Given the description of an element on the screen output the (x, y) to click on. 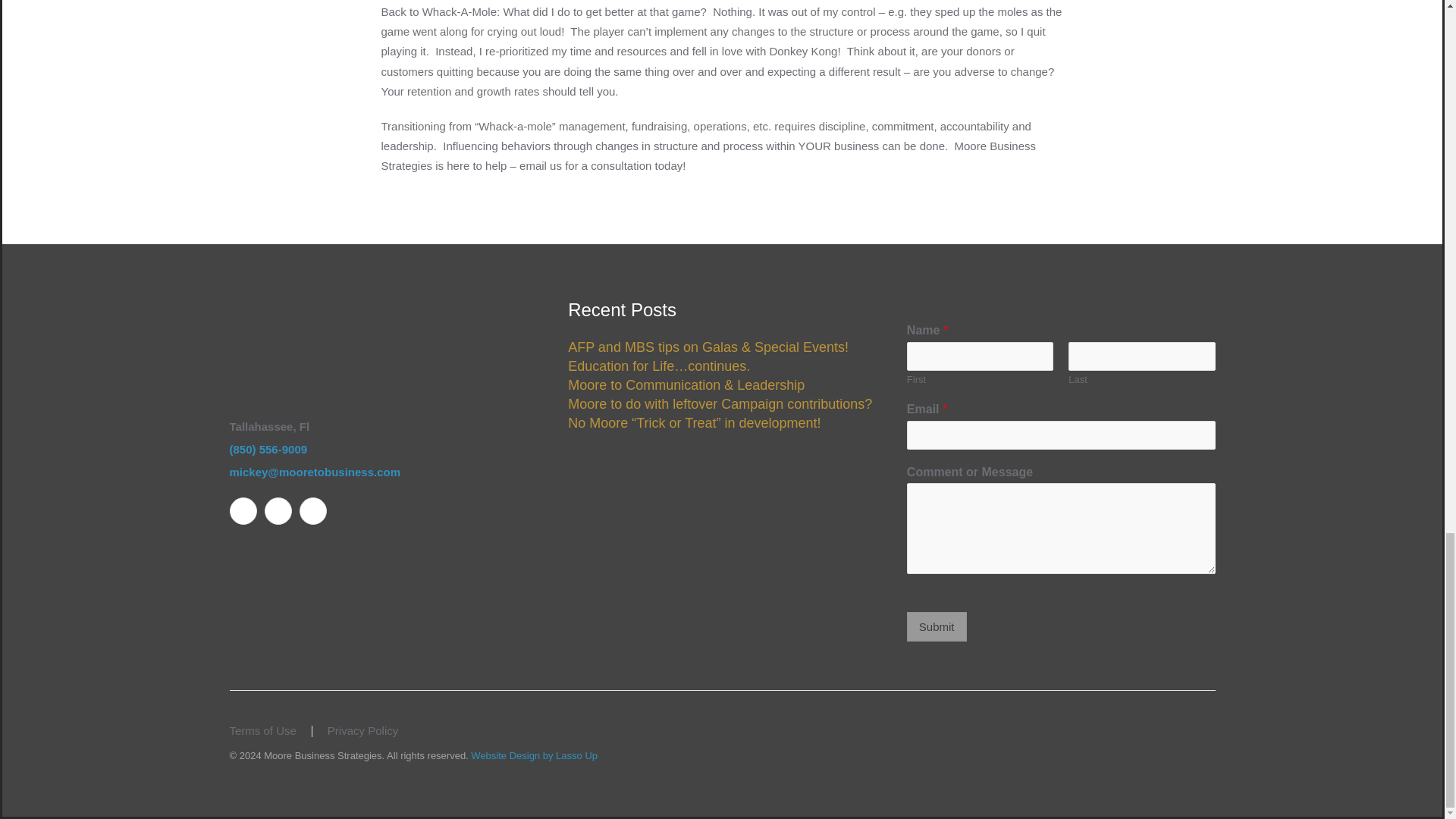
Terms of Use (261, 731)
Privacy Policy (362, 731)
Website Design by Lasso Up (533, 755)
Submit (936, 626)
